Given the description of an element on the screen output the (x, y) to click on. 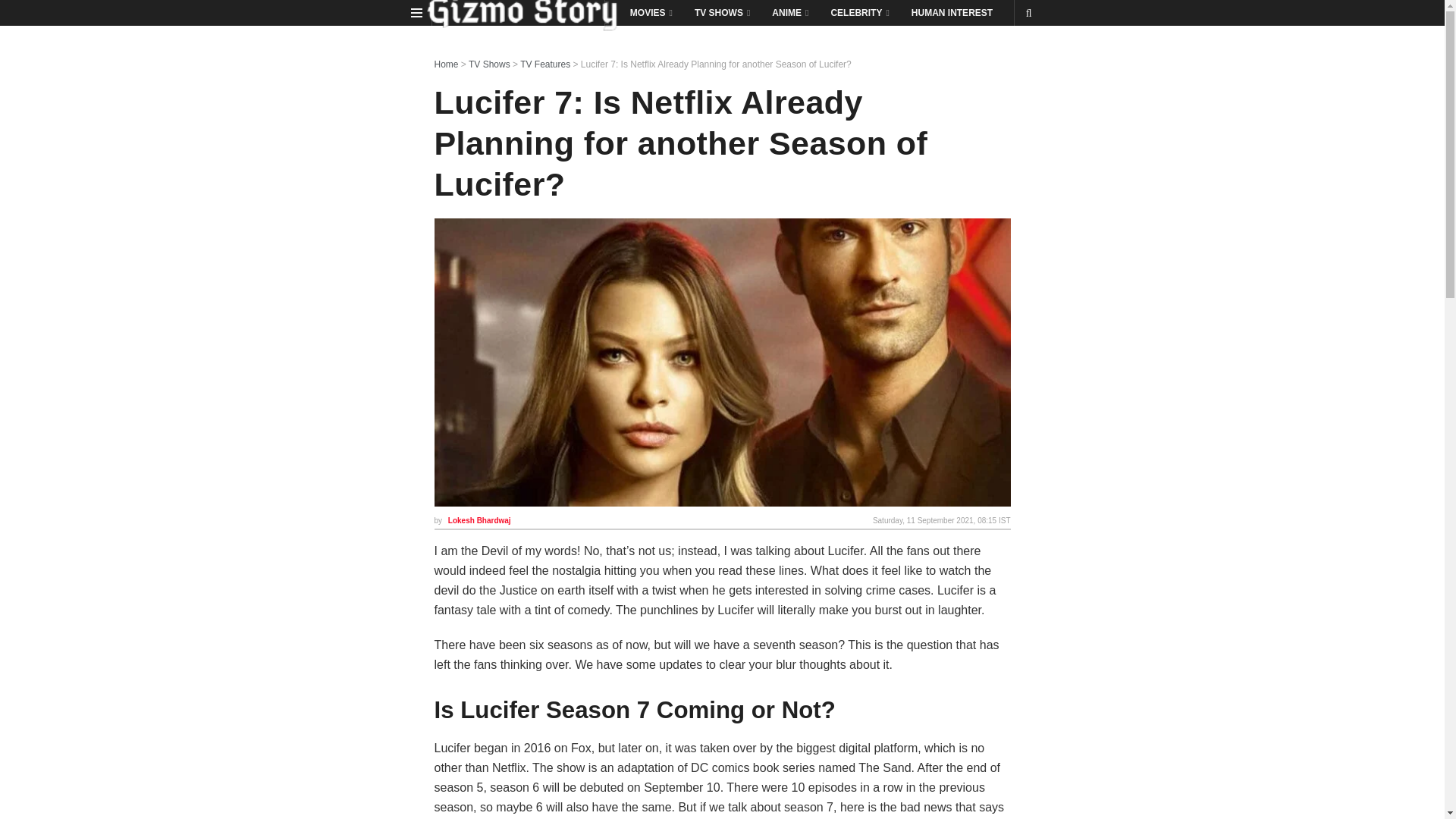
Go to Gizmo Story. (445, 63)
MOVIES (649, 12)
ANIME (789, 12)
HUMAN INTEREST (951, 12)
TV SHOWS (721, 12)
Go to the TV Features Category archives. (544, 63)
Go to the TV Shows Category archives. (489, 63)
CELEBRITY (858, 12)
